Given the description of an element on the screen output the (x, y) to click on. 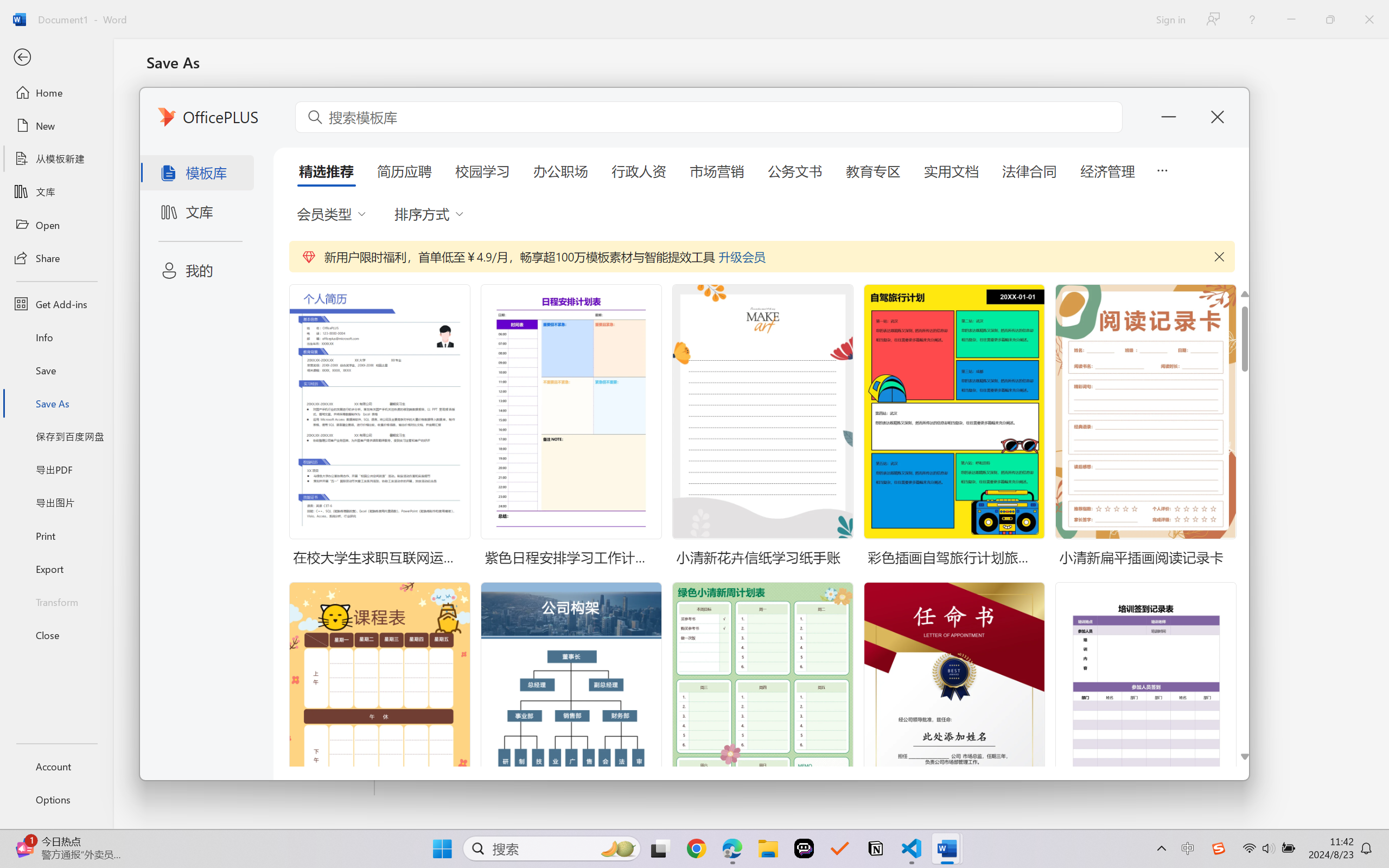
New (56, 125)
